Given the description of an element on the screen output the (x, y) to click on. 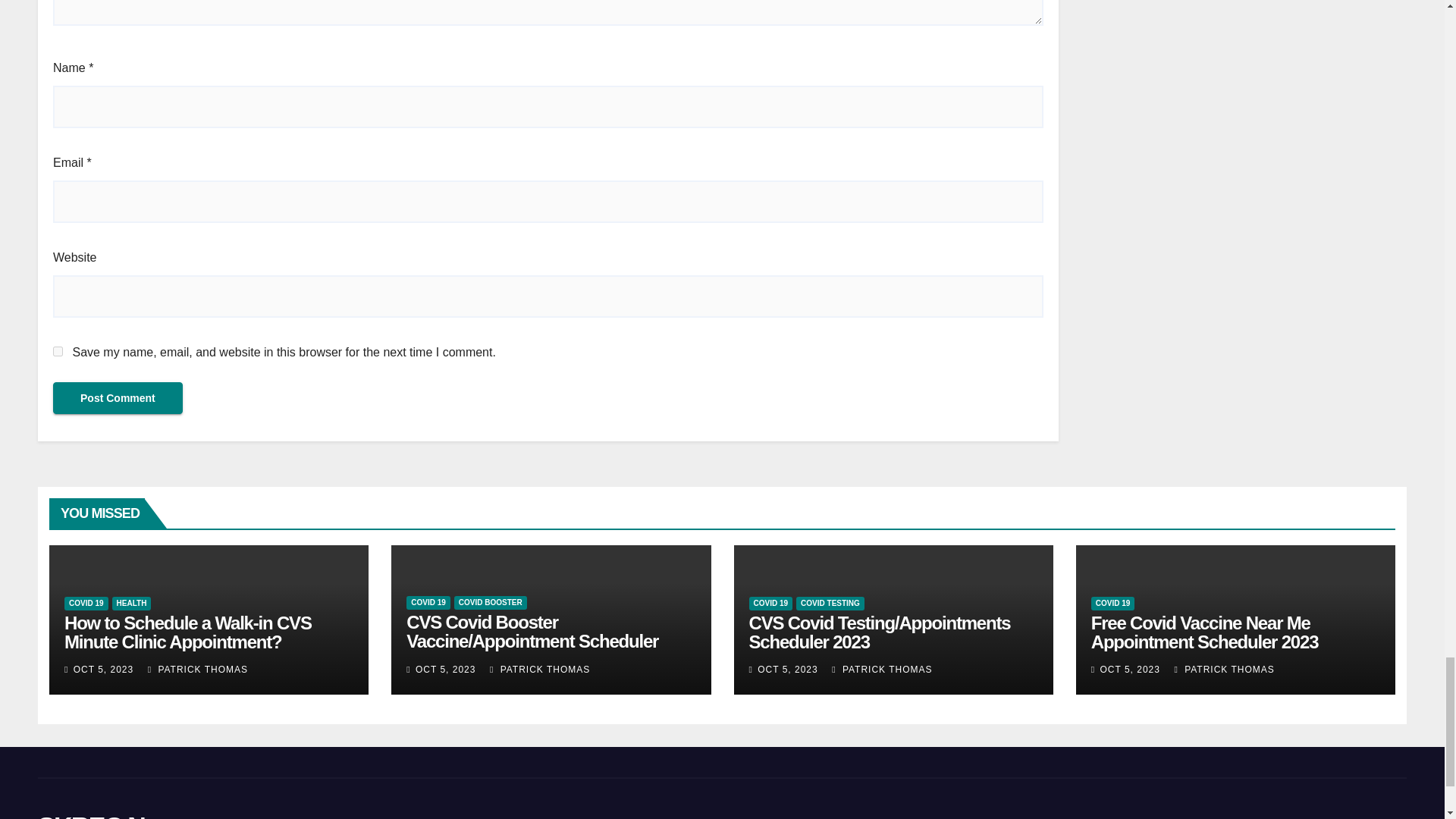
yes (57, 351)
Post Comment (117, 398)
